Given the description of an element on the screen output the (x, y) to click on. 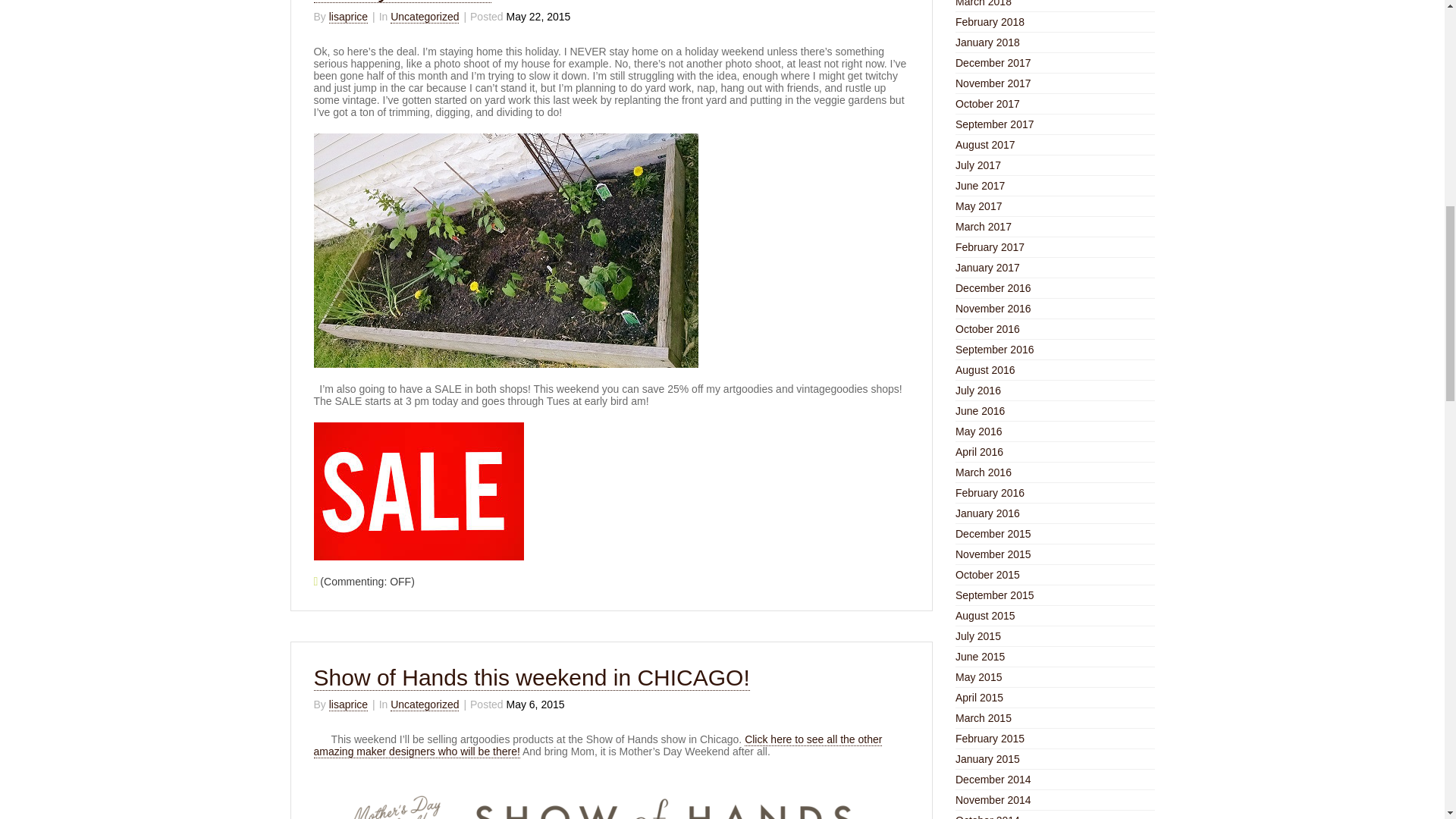
Uncategorized (424, 704)
lisaprice (348, 704)
Click to read more about Holiday Weekend (403, 1)
lisaprice (348, 16)
View all posts by lisaprice (348, 16)
Uncategorized (424, 16)
View all posts by lisaprice (348, 704)
Holiday Weekend (403, 1)
